Given the description of an element on the screen output the (x, y) to click on. 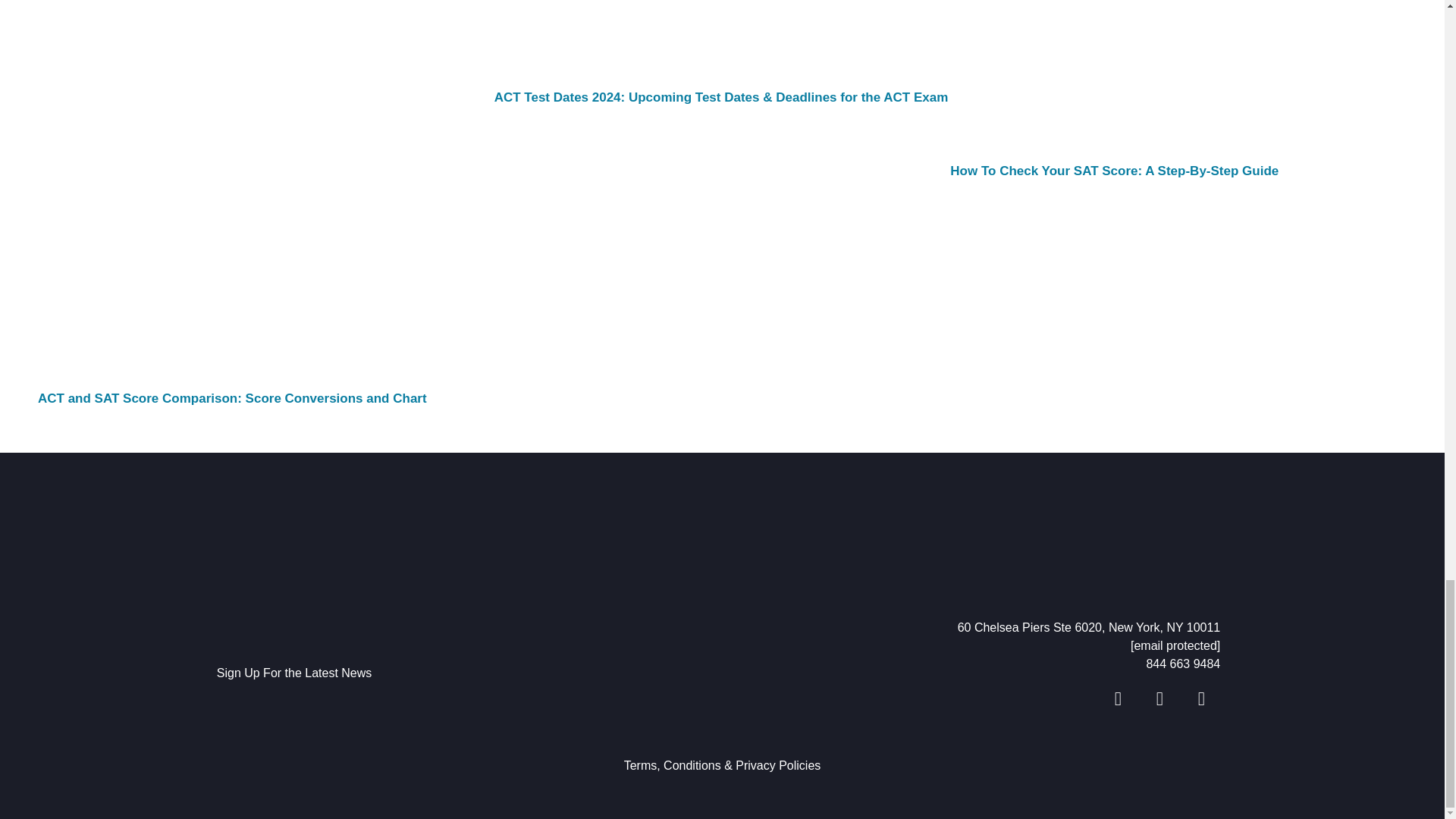
How To Check Your SAT Score: A Step-By-Step Guide (1114, 170)
Facebook (1118, 699)
ACT and SAT Score Comparison: Score Conversions and Chart (231, 398)
Linkedin (1158, 699)
Instagram (1201, 699)
844 663 9484 (974, 664)
60 Chelsea Piers Ste 6020, New York, NY 10011 (974, 628)
